Given the description of an element on the screen output the (x, y) to click on. 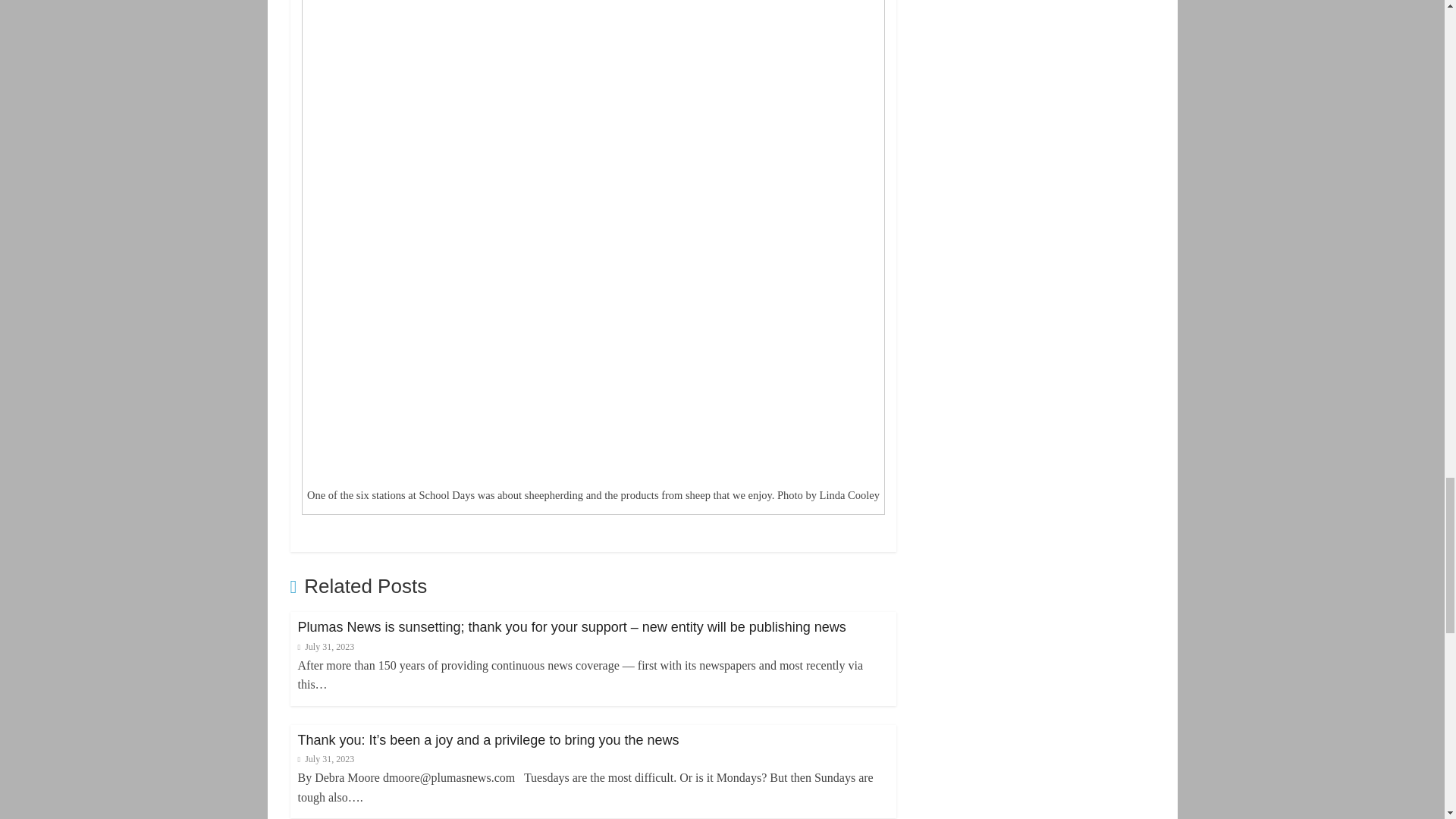
5:07 pm (325, 646)
